Given the description of an element on the screen output the (x, y) to click on. 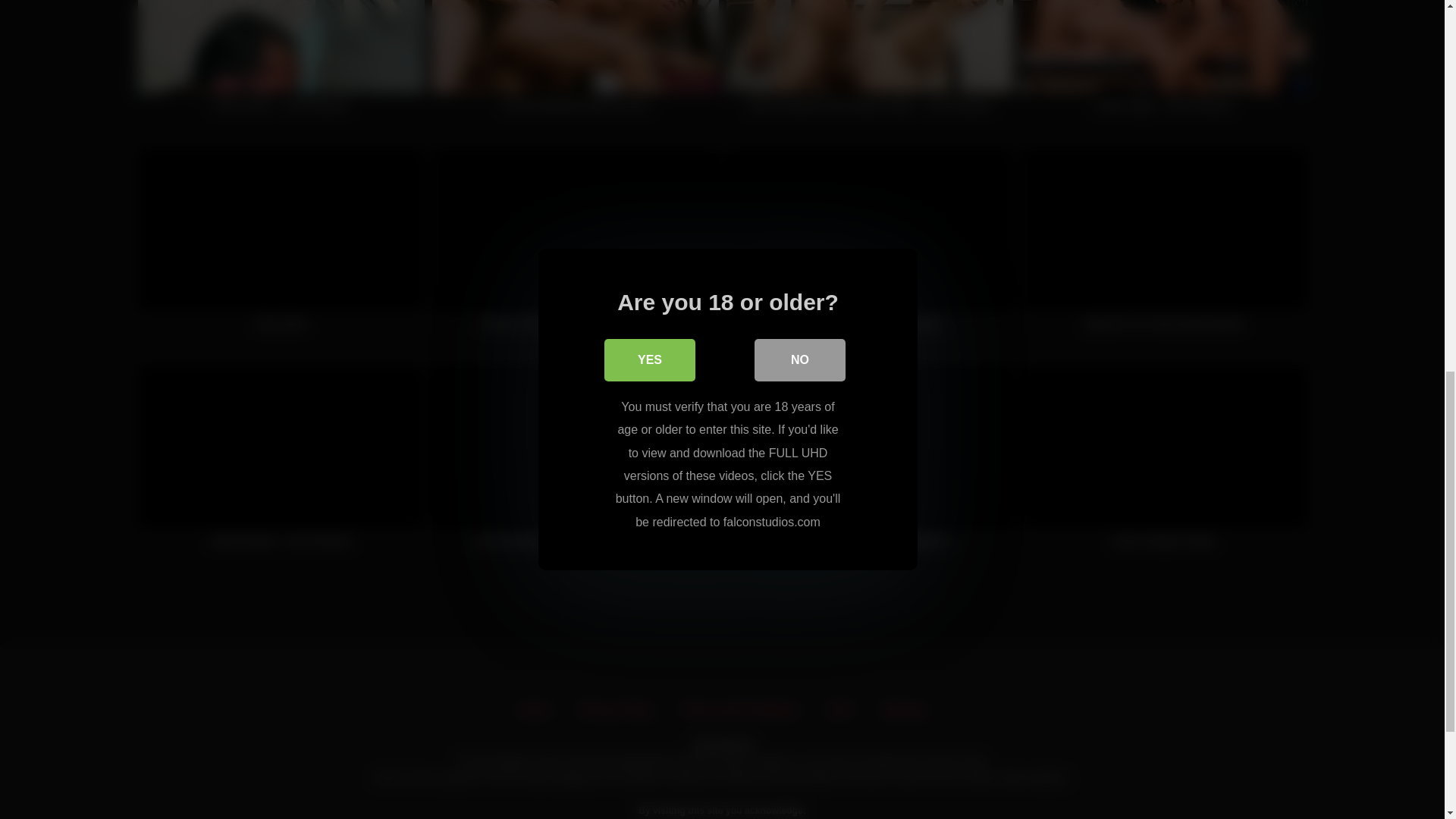
Romano The New Patient Jock Physical (575, 247)
Privacy Policy (615, 709)
Spencer Fox Fucks Micah Brandt (1163, 247)
Sitemap (903, 709)
Gay Jocks (281, 247)
Logan Stevens Fucks Cameron (869, 247)
Tommy Defendi Fucks AJ Irons (575, 64)
Spencer Fox Fucks Micah Brandt (1163, 247)
Donny Wright Probed (1163, 465)
2257 (840, 709)
Gay Jocks (281, 247)
Terms and Conditions (740, 709)
Romano The New Patient Jock Physical (575, 247)
Tommy Defendi Fucks AJ Irons (575, 64)
Home (534, 709)
